Given the description of an element on the screen output the (x, y) to click on. 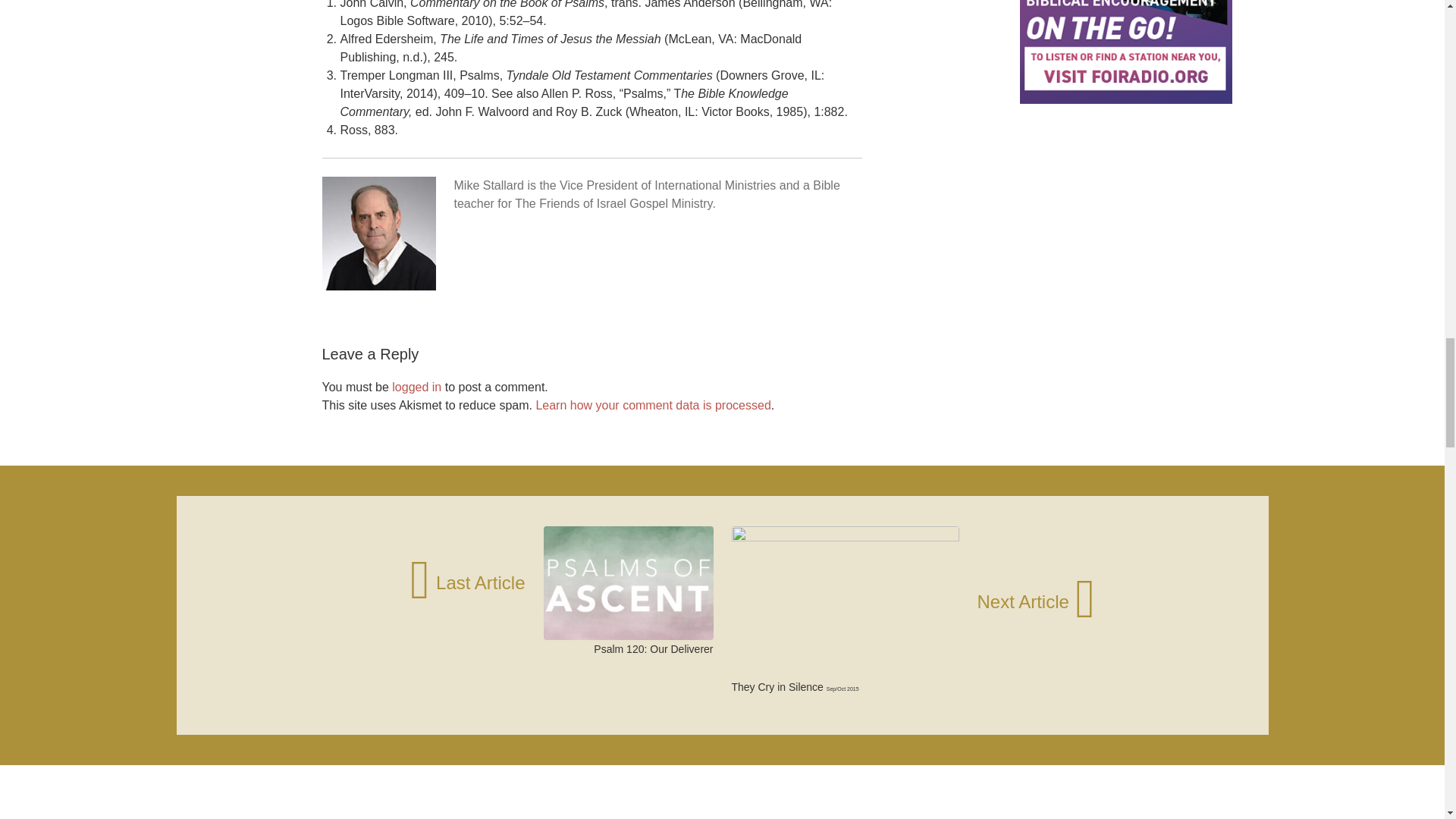
Learn how your comment data is processed (652, 404)
logged in (416, 386)
